Given the description of an element on the screen output the (x, y) to click on. 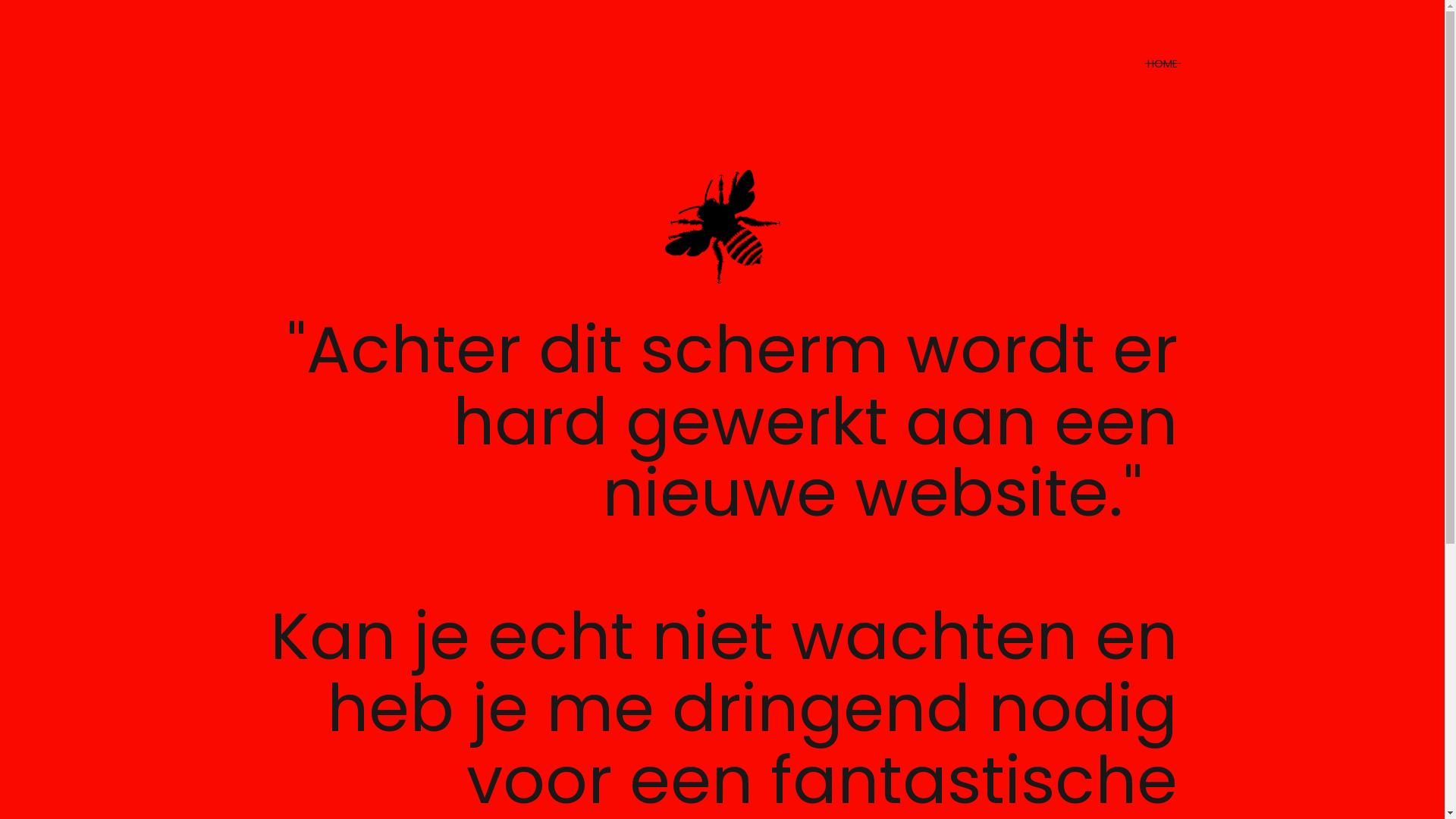
HOME Element type: text (1161, 63)
